Given the description of an element on the screen output the (x, y) to click on. 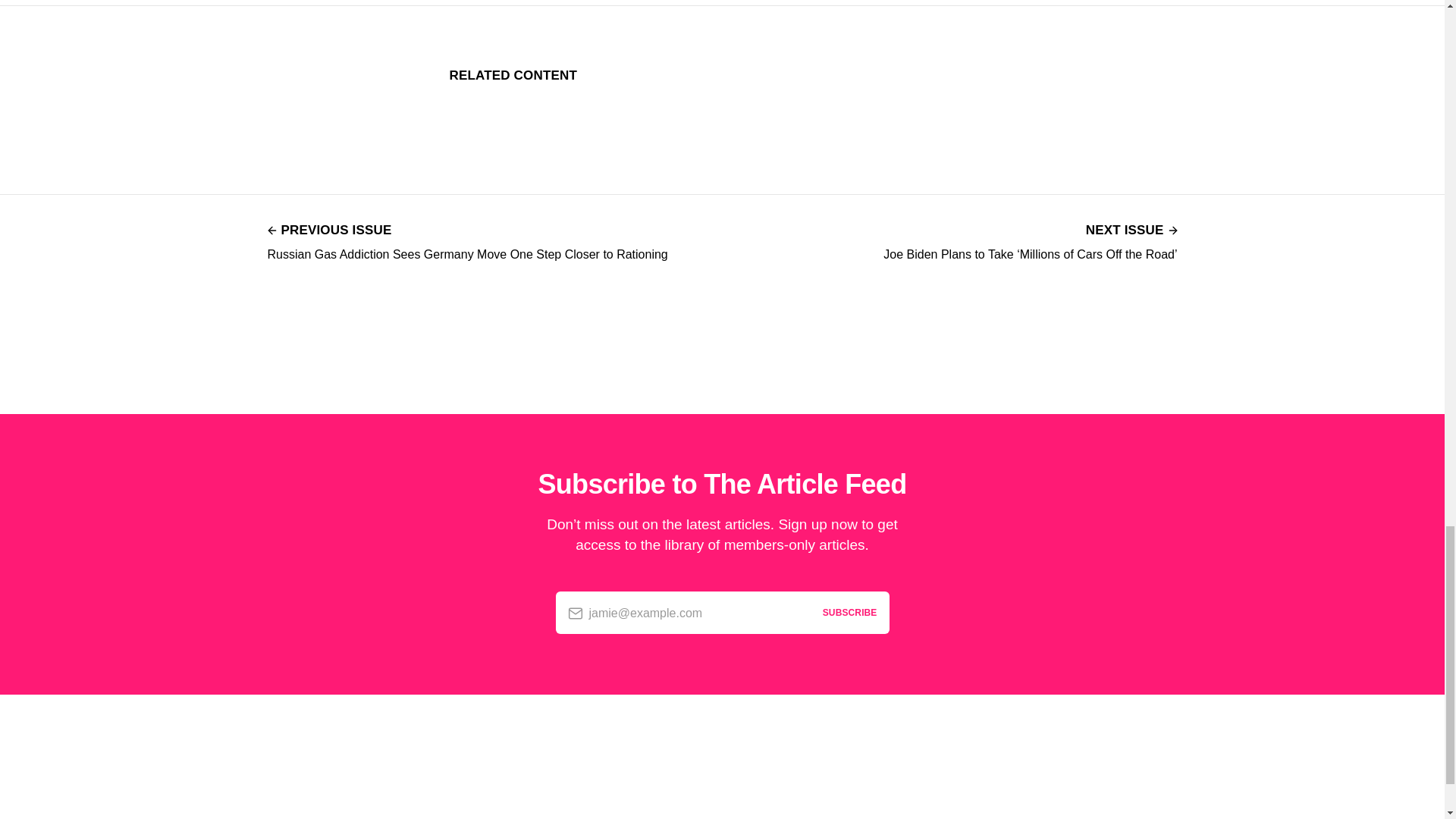
The Article Feed (529, 818)
Sign up (721, 817)
